Given the description of an element on the screen output the (x, y) to click on. 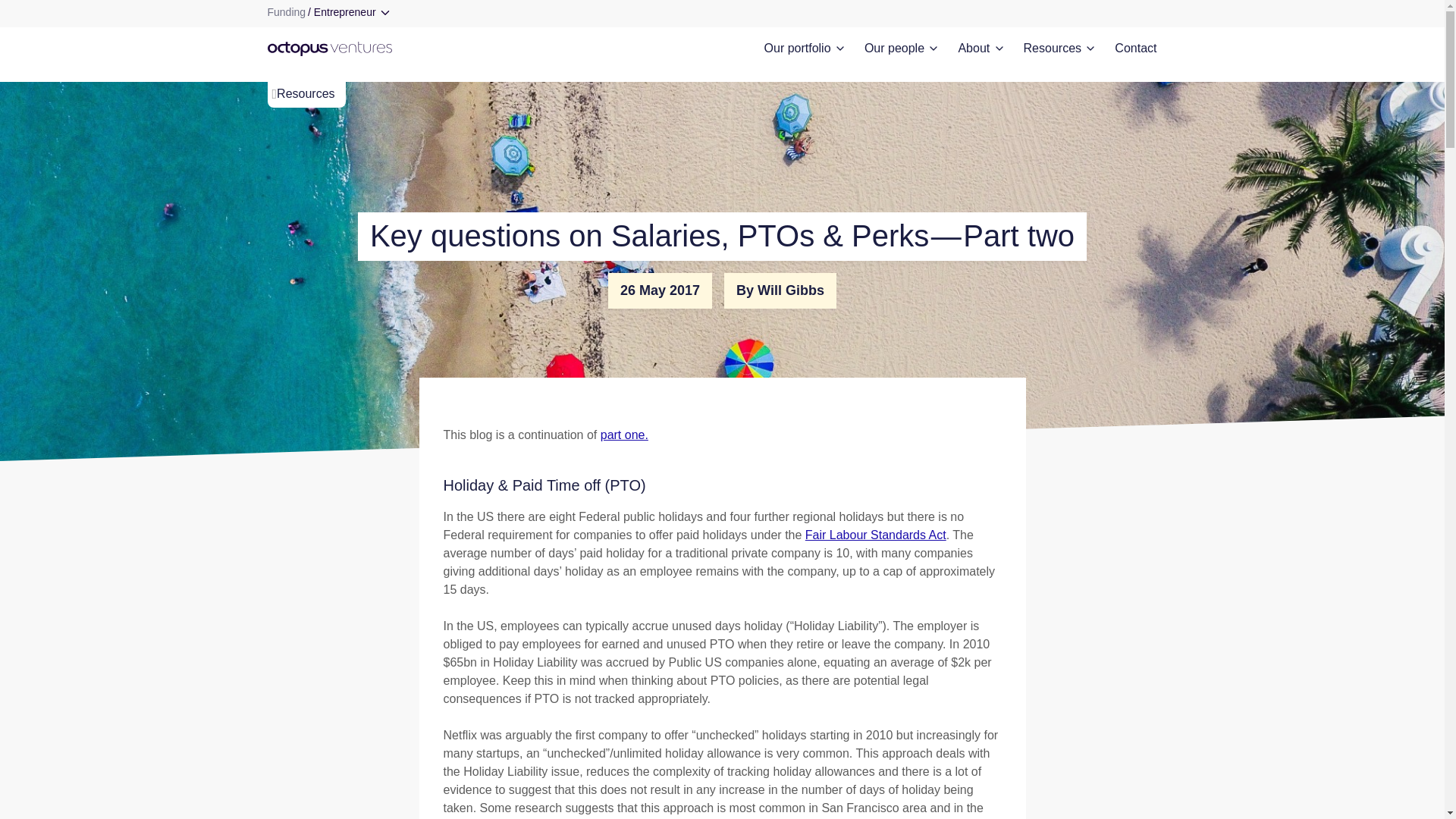
Our portfolio (804, 48)
Contact (1135, 48)
About (980, 48)
Resources (1058, 48)
Our people (900, 48)
